Given the description of an element on the screen output the (x, y) to click on. 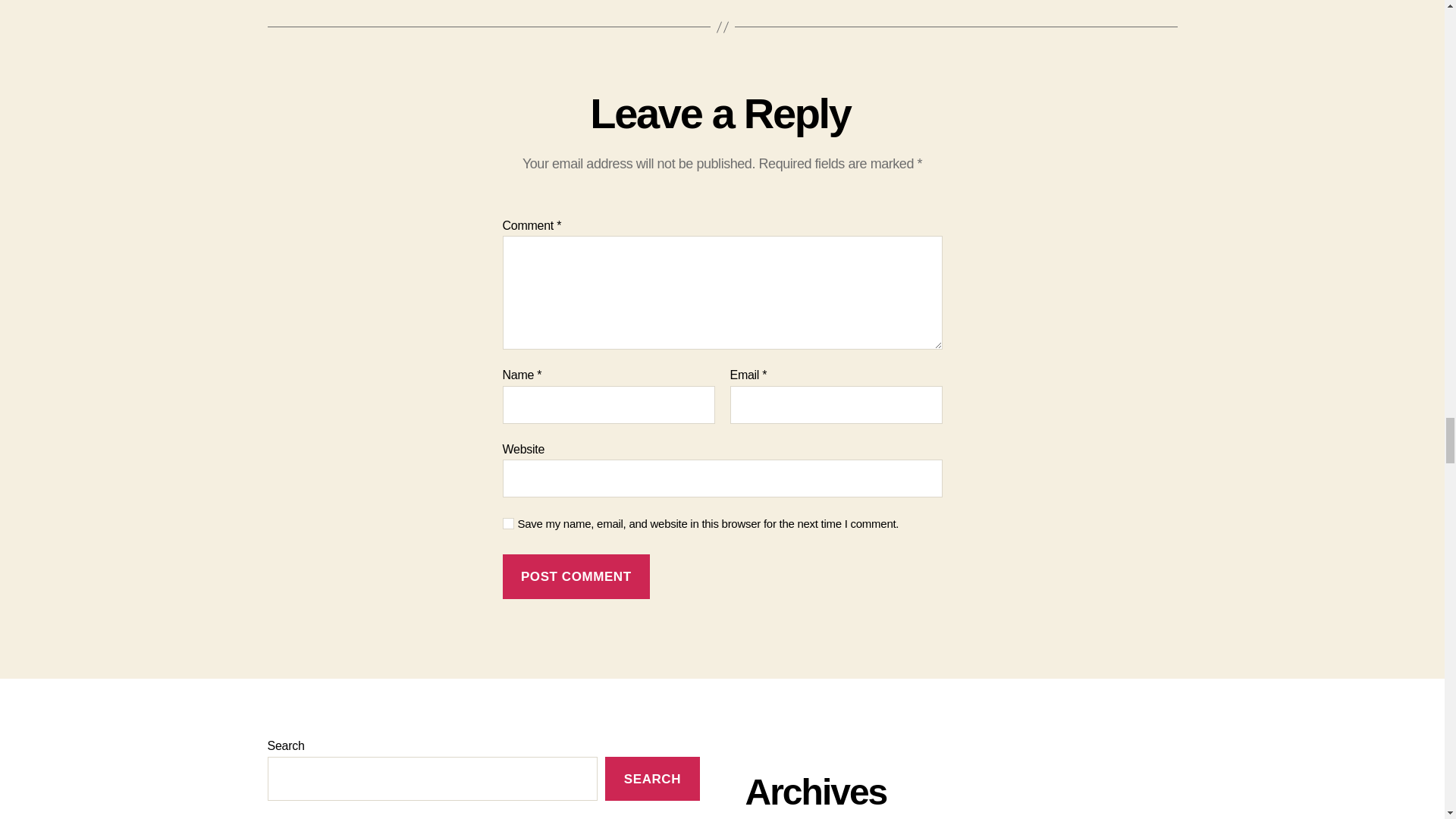
yes (507, 523)
SEARCH (651, 778)
Post Comment (575, 576)
Post Comment (575, 576)
